Given the description of an element on the screen output the (x, y) to click on. 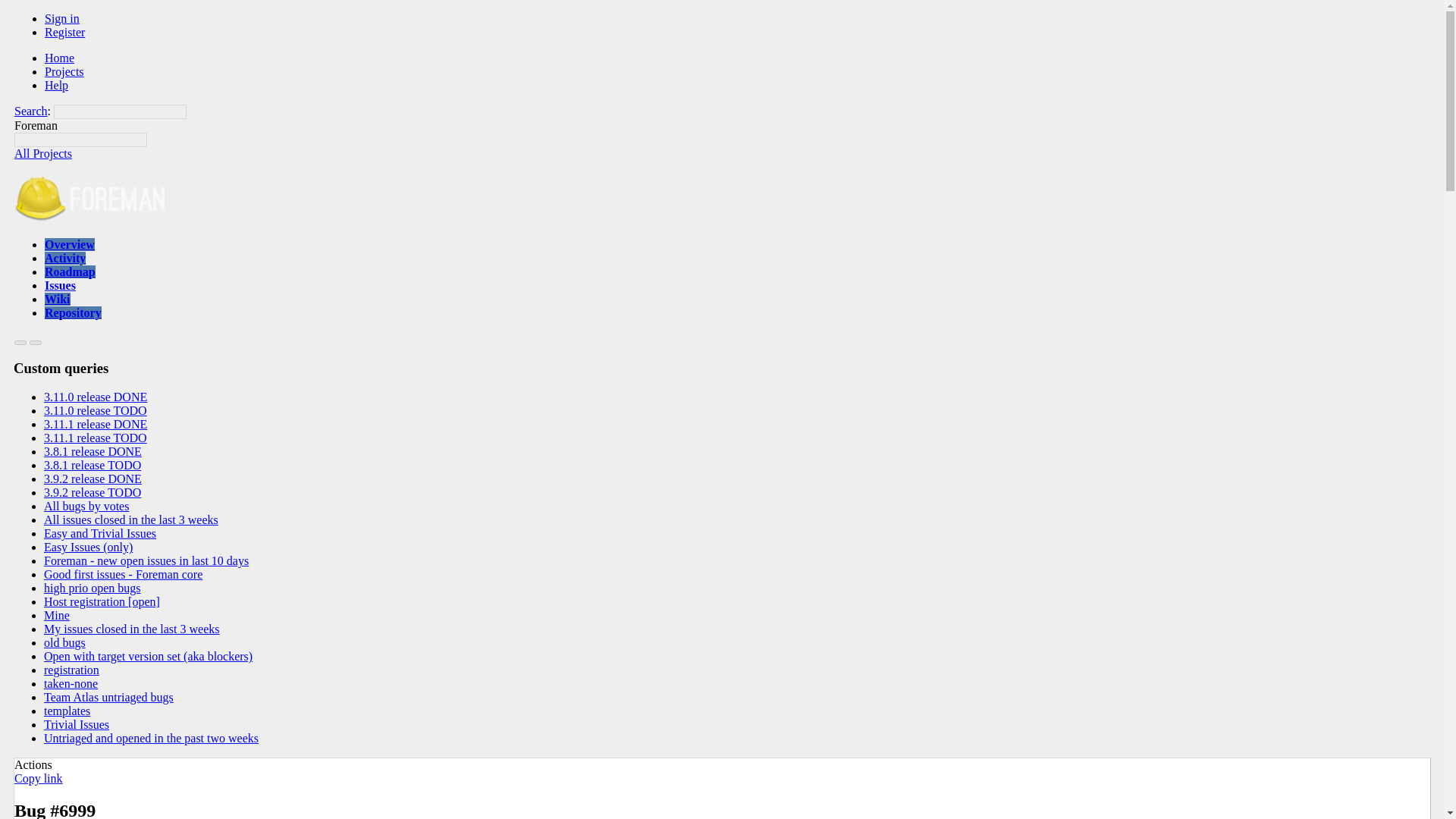
registration (71, 669)
My issues closed in the last 3 weeks (131, 628)
3.11.0 release DONE (95, 396)
3.11.1 release DONE (95, 423)
Search (31, 110)
Activity (65, 257)
Sign in (62, 18)
Register (64, 31)
old bugs (64, 642)
3.8.1 release TODO (92, 464)
Team Atlas untriaged bugs (108, 697)
3.8.1 release DONE (92, 451)
Mine (56, 615)
templates (66, 710)
Help (56, 84)
